Given the description of an element on the screen output the (x, y) to click on. 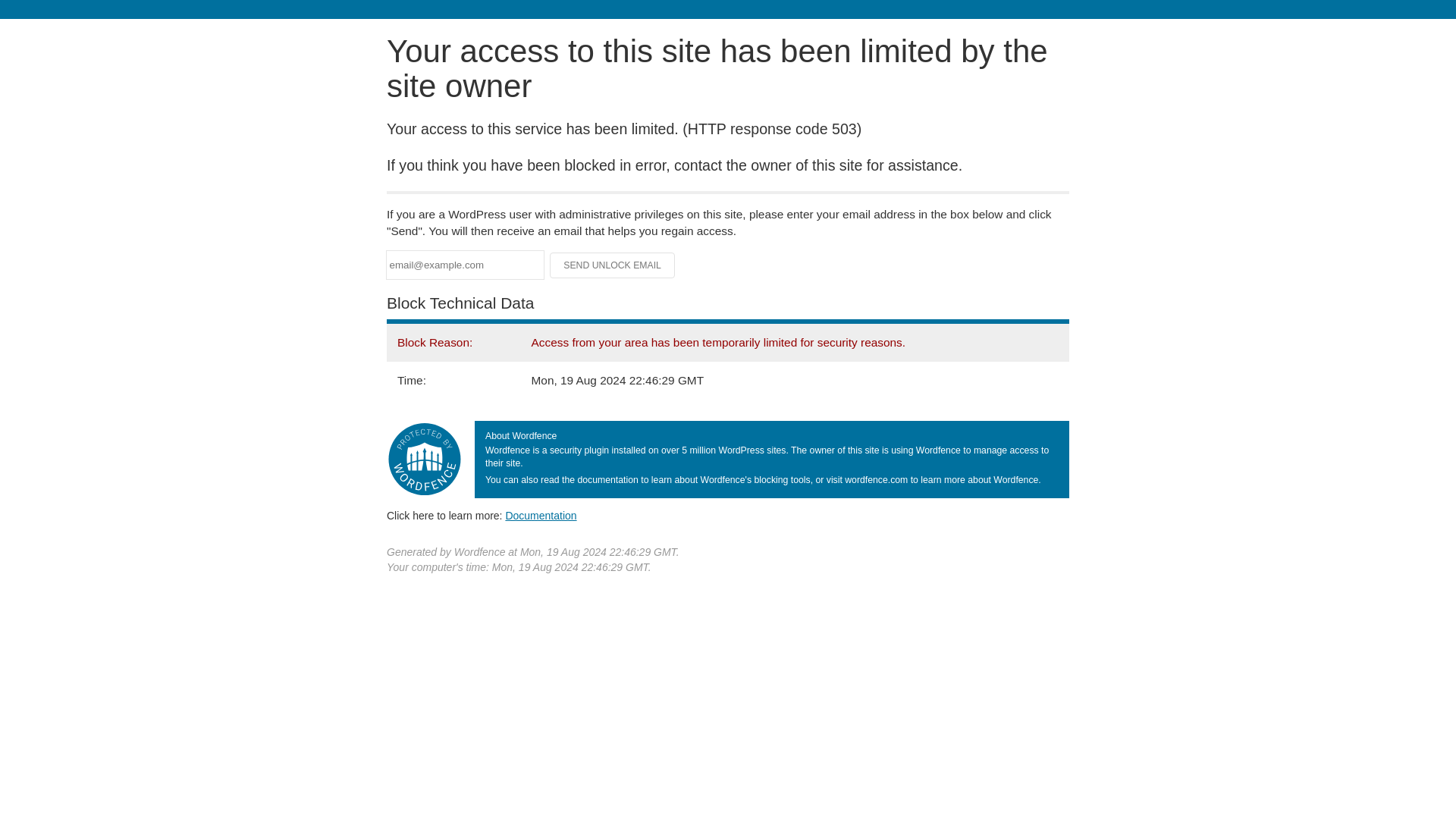
Send Unlock Email (612, 265)
Send Unlock Email (612, 265)
Documentation (540, 515)
